Given the description of an element on the screen output the (x, y) to click on. 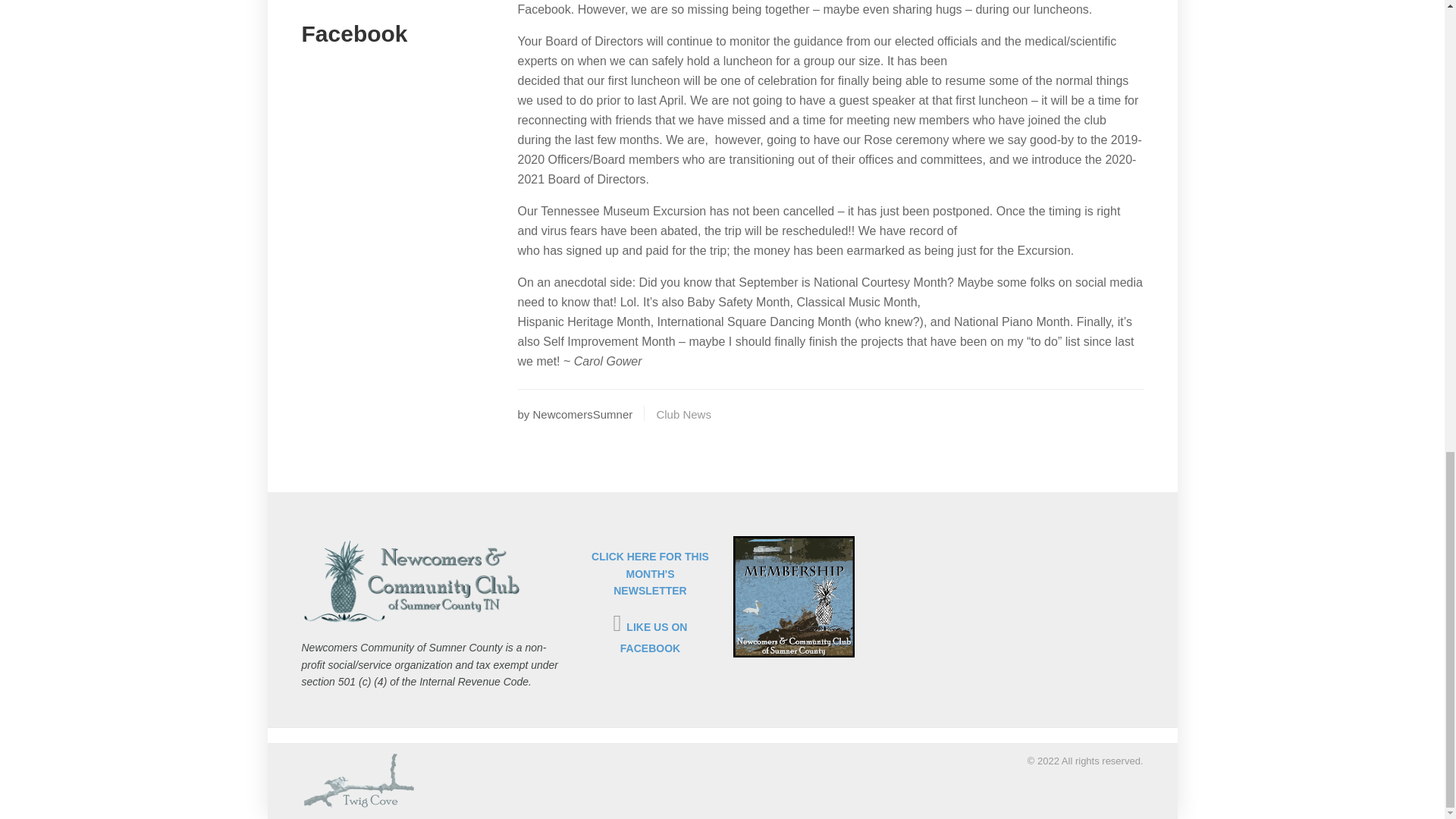
LIKE US ON FACEBOOK (653, 637)
CLICK HERE FOR THIS MONTH'S NEWSLETTER (650, 573)
Club News (683, 413)
